Given the description of an element on the screen output the (x, y) to click on. 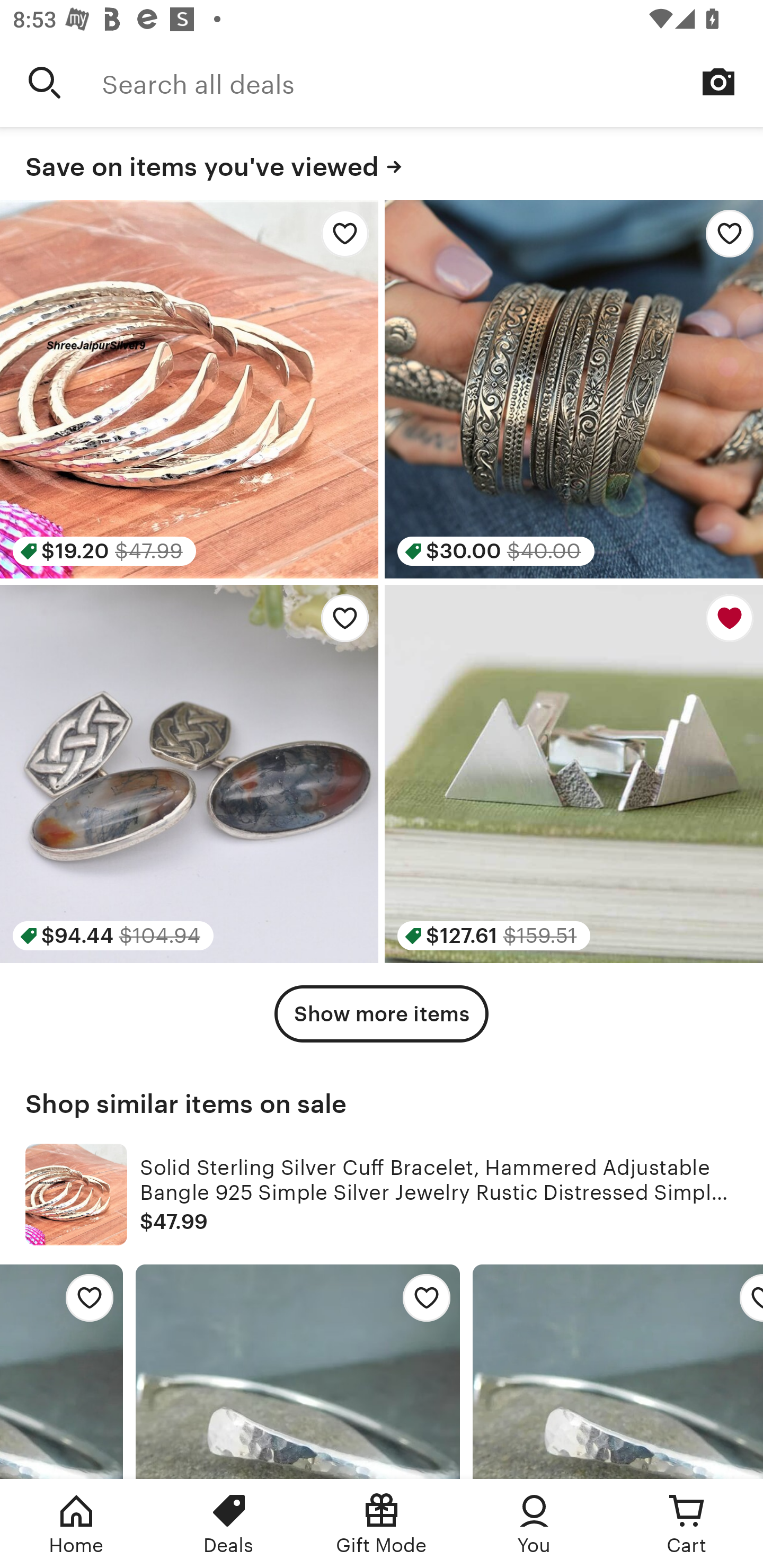
Search for anything on Etsy (44, 82)
Search by image (718, 81)
Search all deals (432, 82)
Save on items you've viewed (381, 164)
Show more items (381, 1013)
Home (76, 1523)
Gift Mode (381, 1523)
You (533, 1523)
Cart (686, 1523)
